Given the description of an element on the screen output the (x, y) to click on. 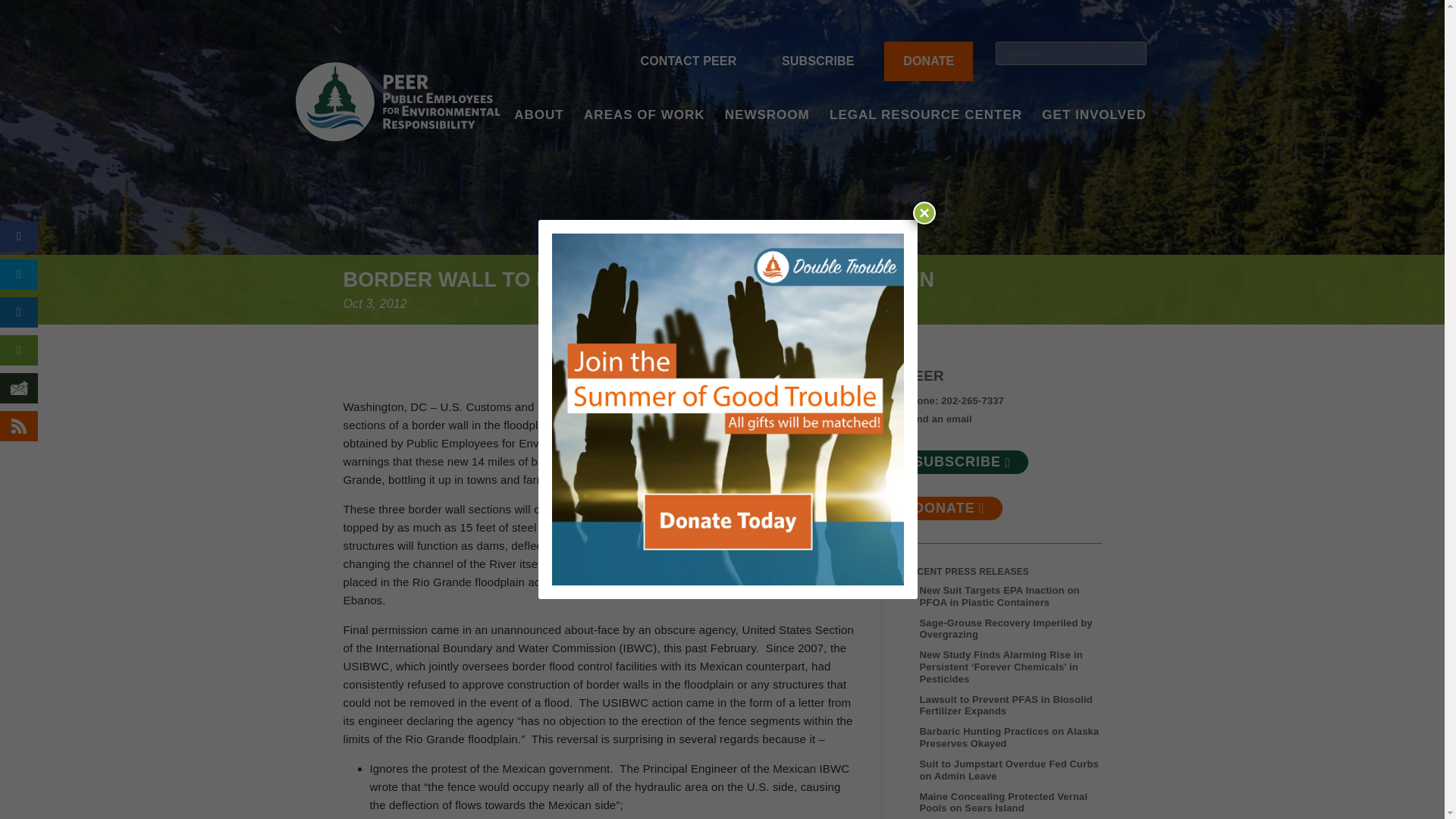
ABOUT (538, 135)
DONATE (928, 60)
AREAS OF WORK (643, 135)
CONTACT PEER (689, 60)
SUBSCRIBE (818, 60)
